Given the description of an element on the screen output the (x, y) to click on. 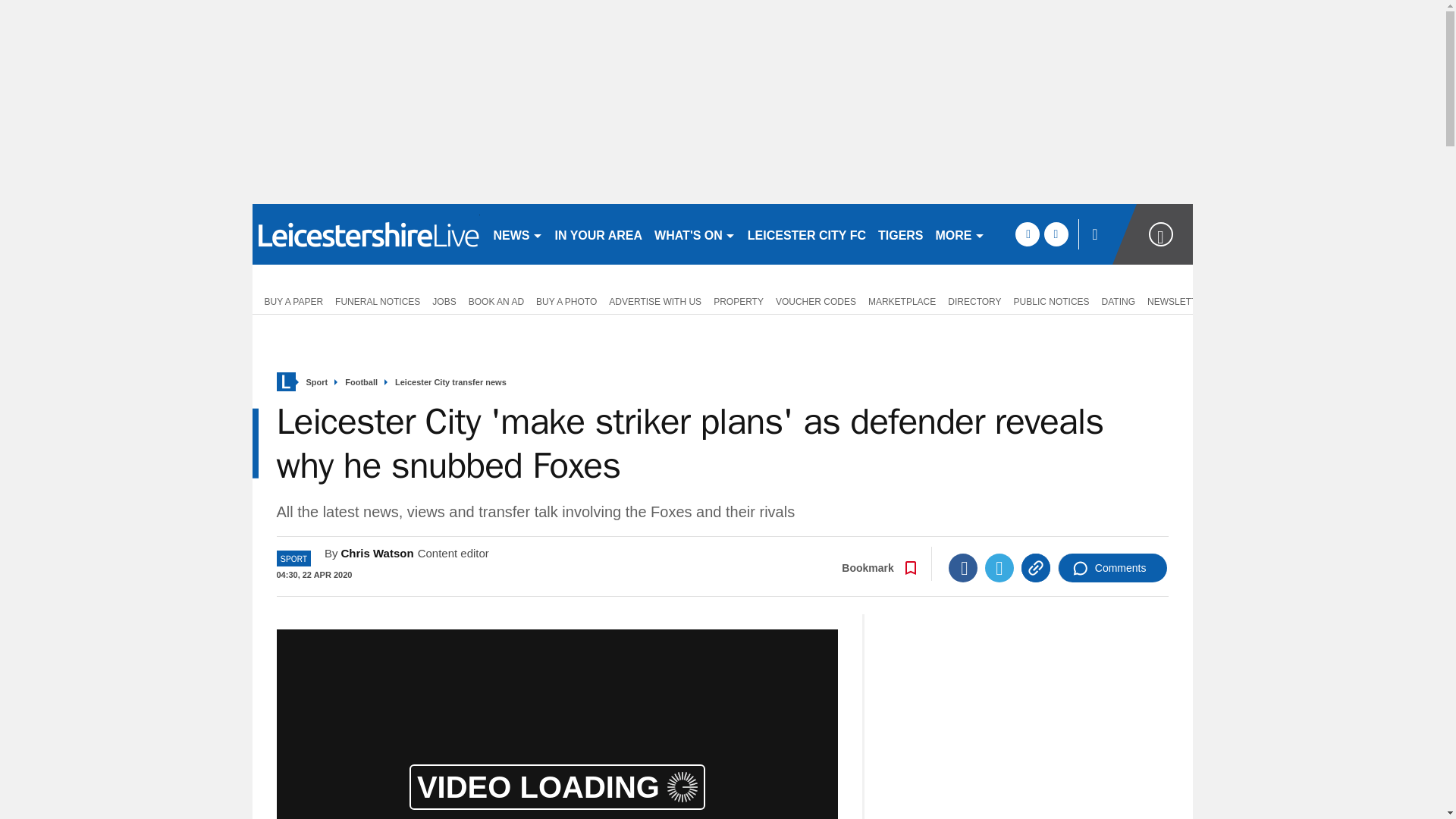
IN YOUR AREA (598, 233)
twitter (1055, 233)
NEWS (517, 233)
TIGERS (901, 233)
MORE (960, 233)
Comments (1112, 567)
facebook (1026, 233)
Twitter (999, 567)
Facebook (962, 567)
WHAT'S ON (694, 233)
LEICESTER CITY FC (806, 233)
leicestermercury (365, 233)
